Given the description of an element on the screen output the (x, y) to click on. 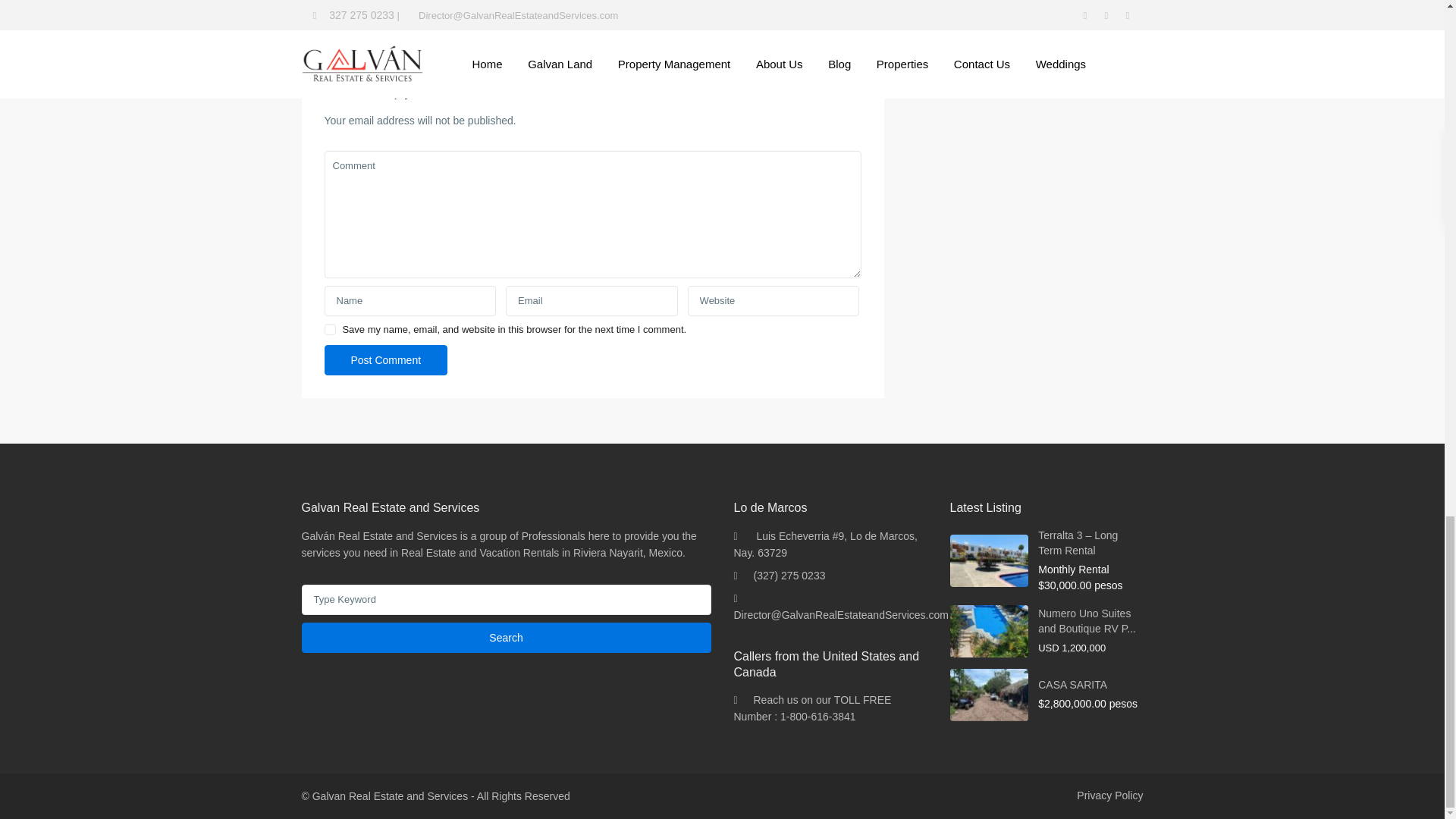
yes (330, 328)
Post Comment (386, 359)
